Given the description of an element on the screen output the (x, y) to click on. 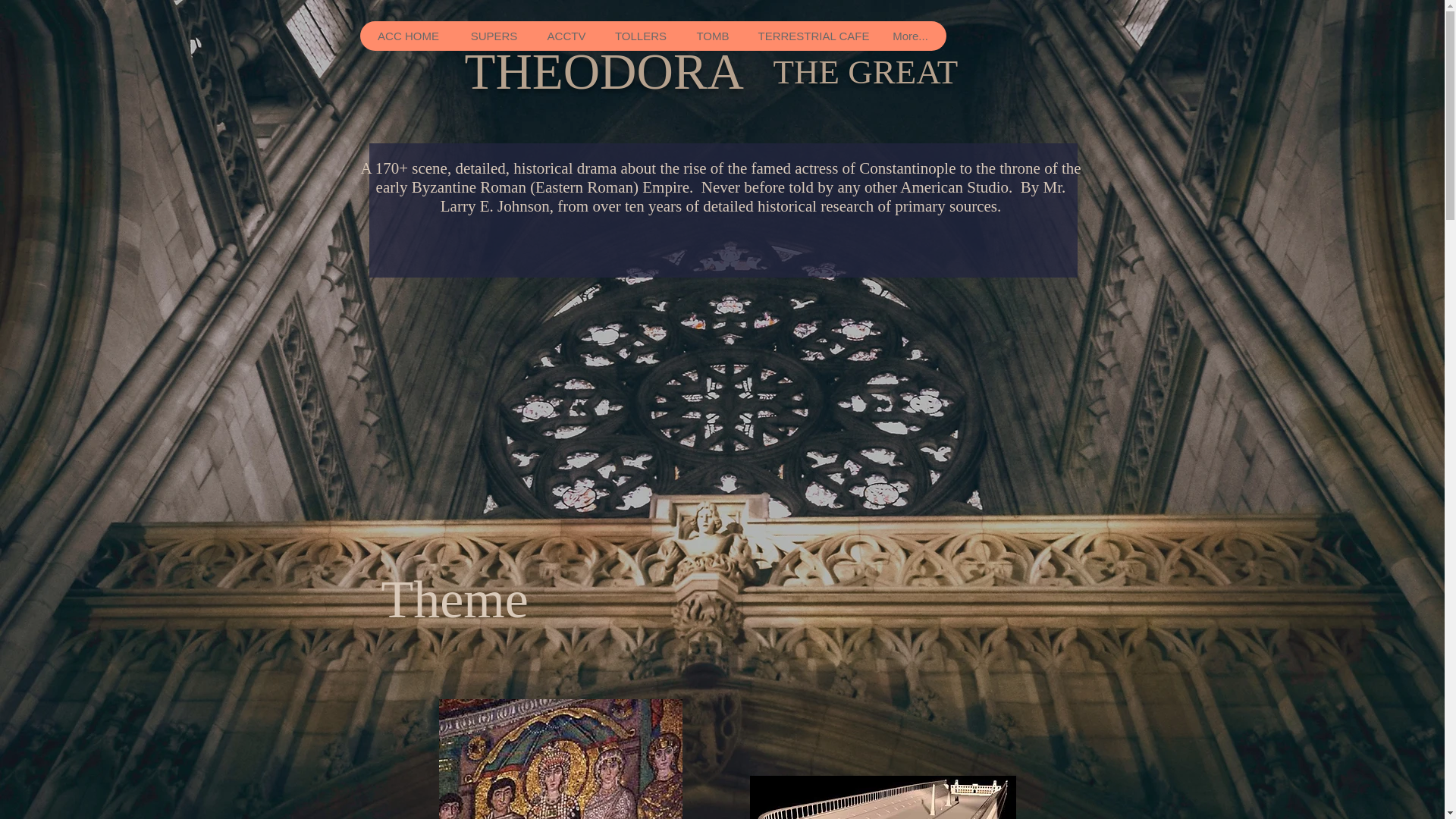
TERRESTRIAL CAFE (810, 35)
TOMB (712, 35)
TOLLERS (640, 35)
ACC HOME (408, 35)
ACCTV (566, 35)
SUPERS (493, 35)
